Given the description of an element on the screen output the (x, y) to click on. 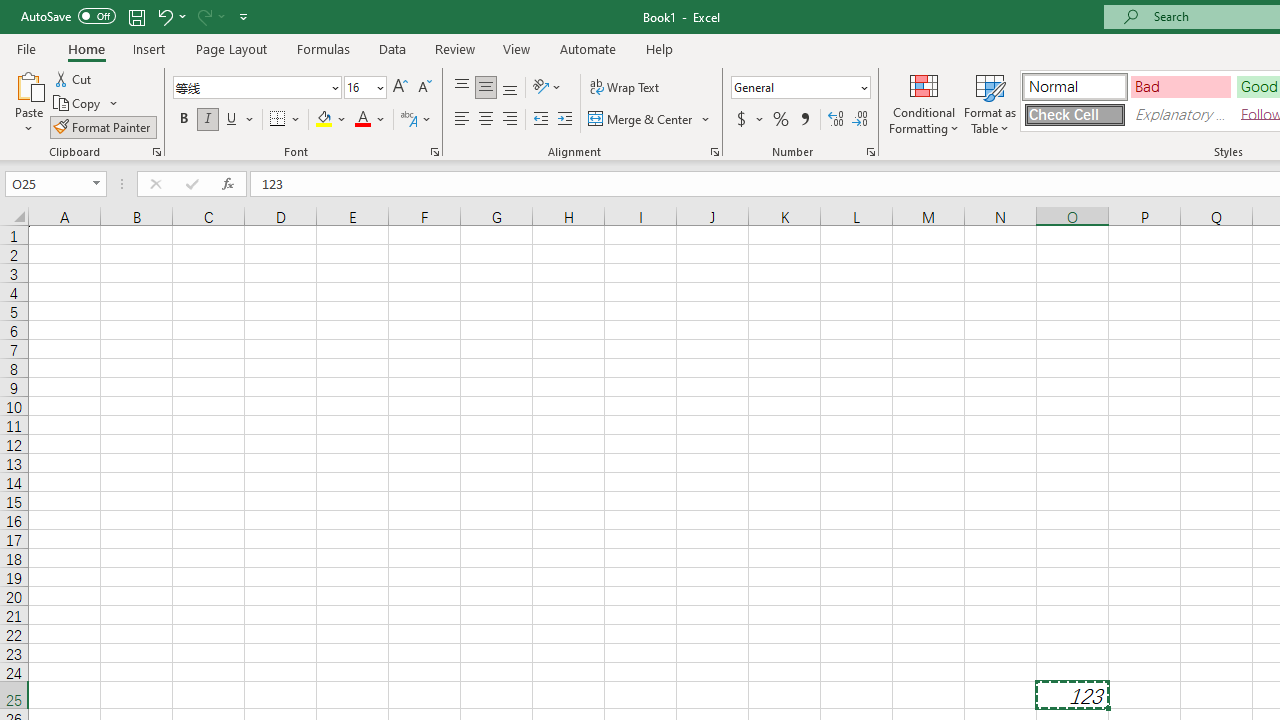
View (517, 48)
Increase Decimal (836, 119)
Format Cell Alignment (714, 151)
Paste (28, 84)
